Given the description of an element on the screen output the (x, y) to click on. 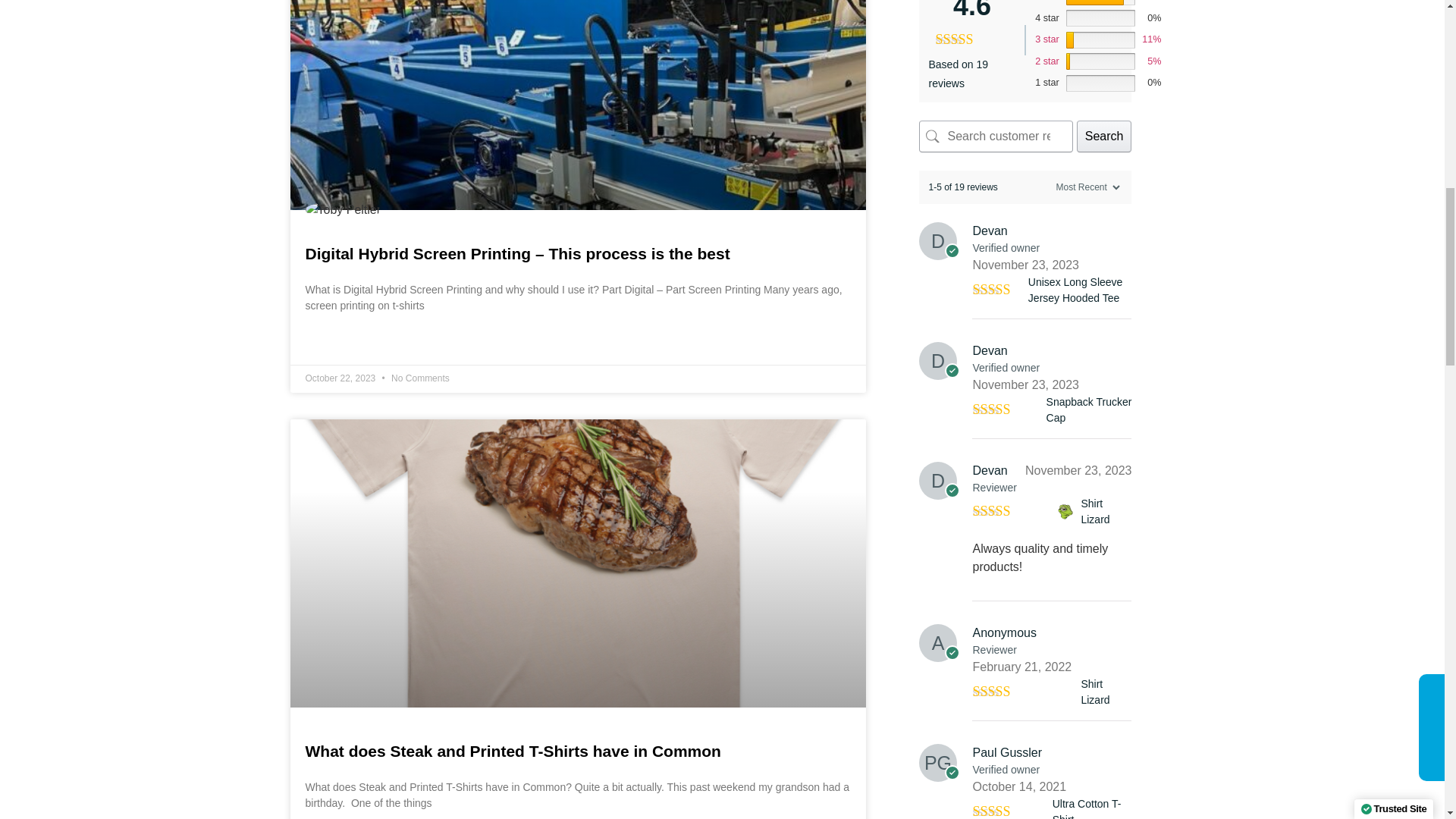
What does Steak and Printed T-Shirts have in Common (512, 751)
2 star (1047, 61)
Shirt Lizard (1066, 511)
5 star (1047, 1)
Shirt Lizard (1105, 511)
Shirt Lizard (1066, 691)
Unisex Long Sleeve Jersey Hooded Tee (1079, 290)
Shirt Lizard (1105, 692)
3 star (1047, 39)
Snapback Trucker Cap (1089, 409)
Ultra Cotton T-Shirt (1092, 807)
